Given the description of an element on the screen output the (x, y) to click on. 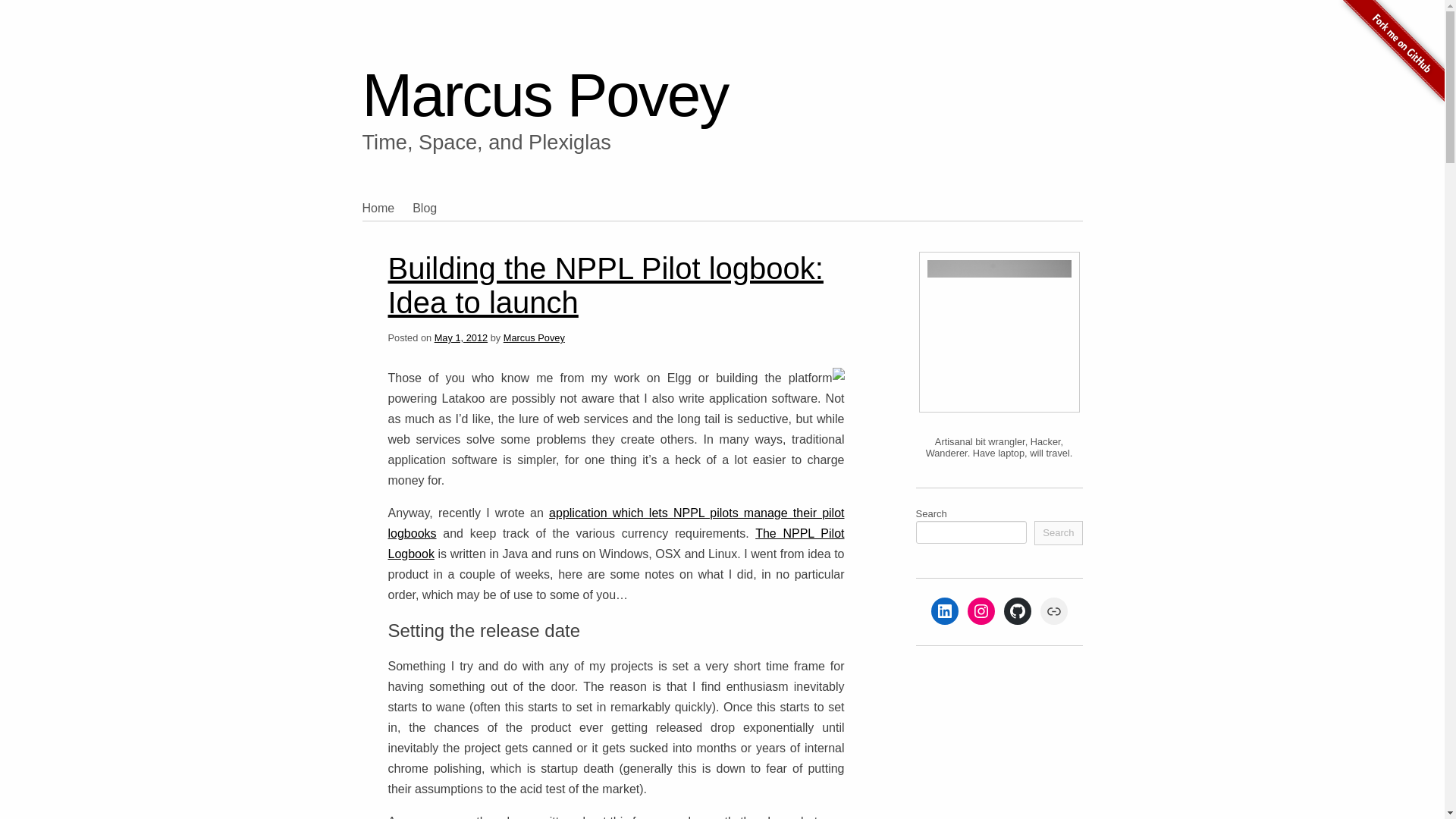
Building the NPPL Pilot logbook: Idea to launch (606, 285)
Blog (433, 208)
Main menu (421, 229)
May 1, 2012 (460, 337)
Home (387, 208)
Skip to content (369, 231)
Marcus Povey (545, 94)
Main menu (421, 229)
Permalink to Building the NPPL Pilot logbook: Idea to launch (606, 285)
View all posts by Marcus Povey (533, 337)
Skip to content (369, 231)
Marcus Povey (545, 94)
9:04 am (460, 337)
Marcus Povey (533, 337)
